Given the description of an element on the screen output the (x, y) to click on. 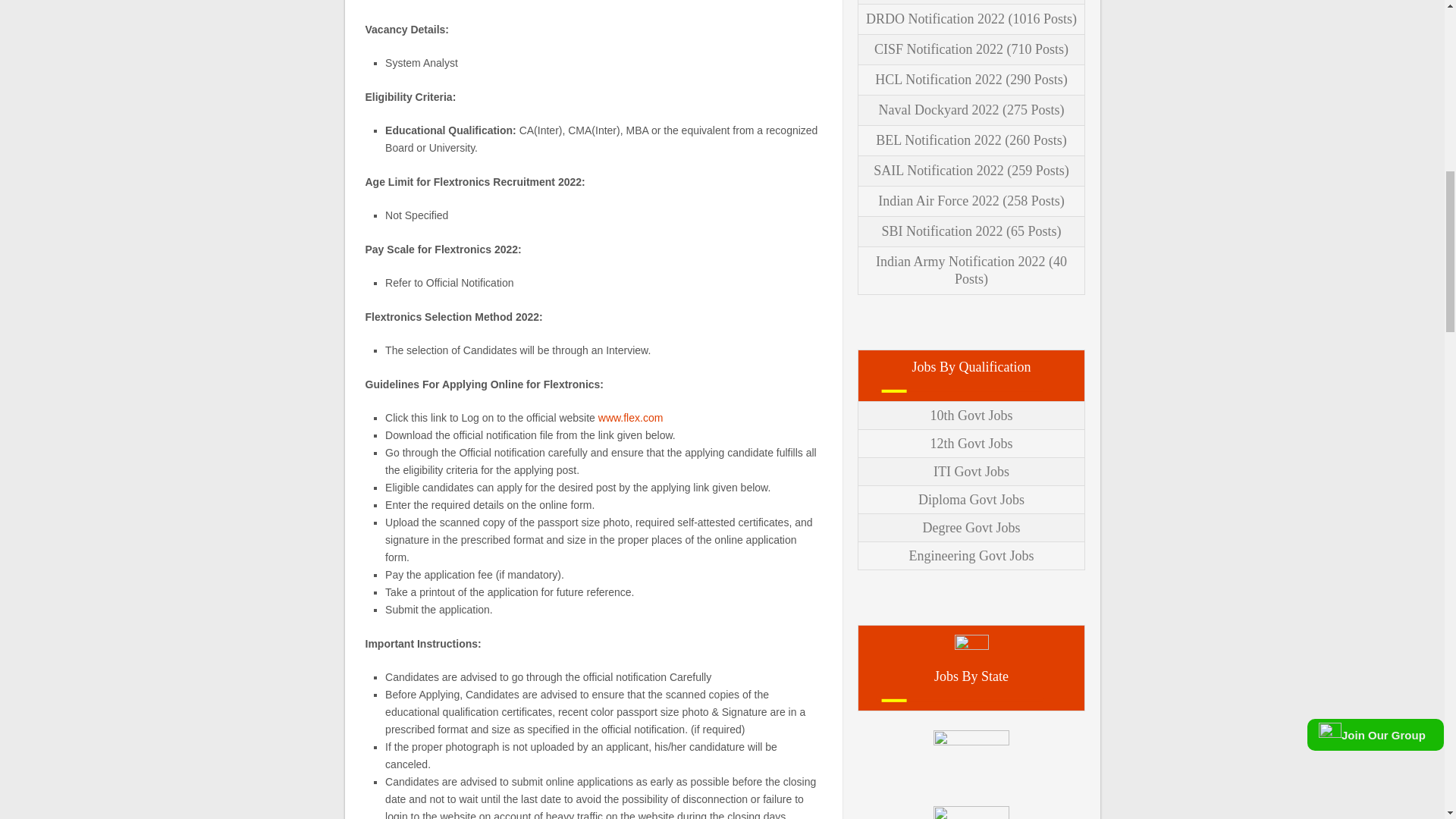
www.flex.com (630, 417)
